Given the description of an element on the screen output the (x, y) to click on. 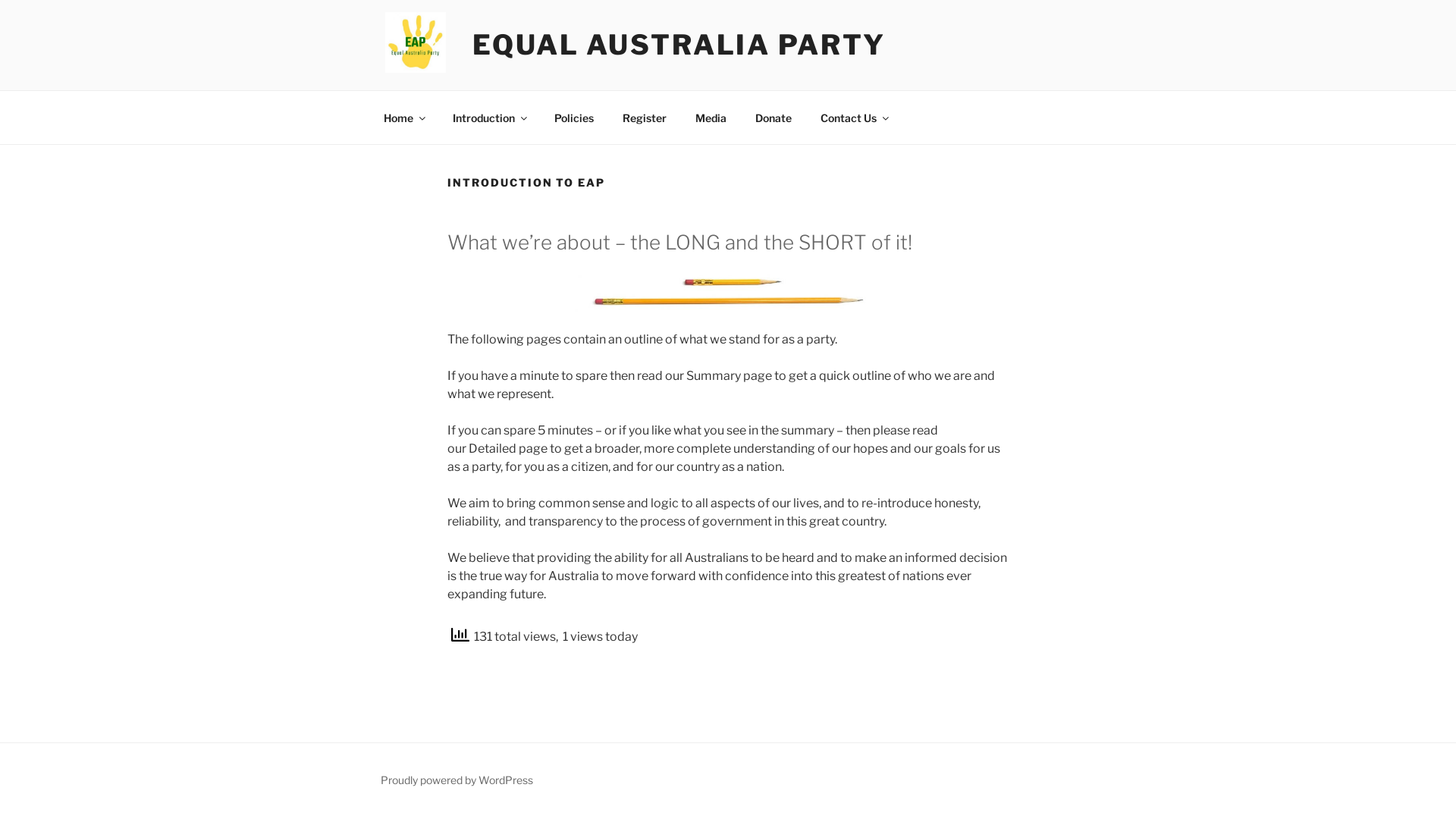
Media Element type: text (710, 116)
Proudly powered by WordPress Element type: text (456, 779)
EQUAL AUSTRALIA PARTY Element type: text (678, 44)
Policies Element type: text (573, 116)
Register Element type: text (643, 116)
Home Element type: text (403, 116)
Contact Us Element type: text (853, 116)
Introduction Element type: text (488, 116)
Skip to content Element type: text (0, 0)
Donate Element type: text (772, 116)
